Given the description of an element on the screen output the (x, y) to click on. 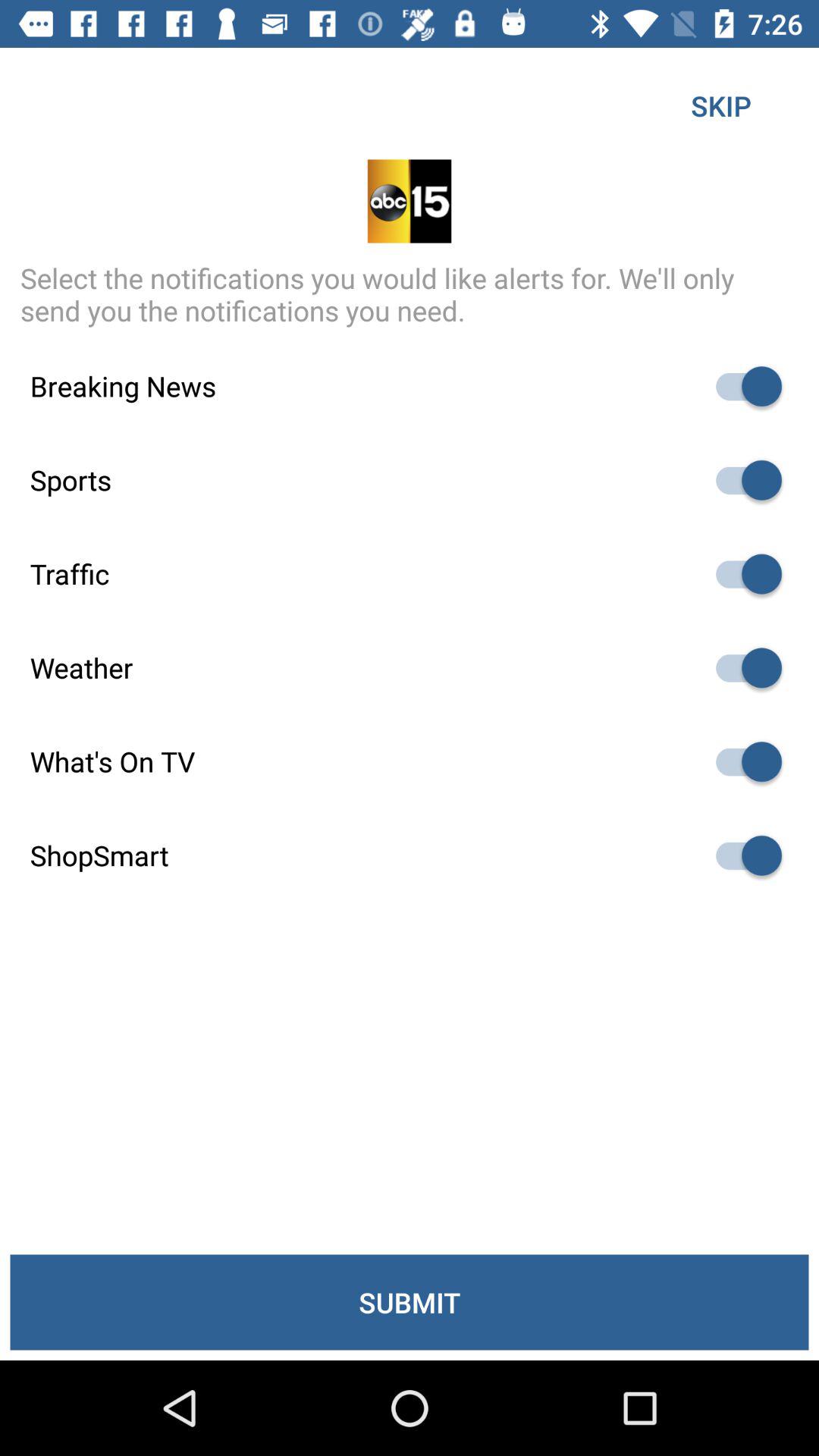
toggle shopsmart (741, 855)
